Given the description of an element on the screen output the (x, y) to click on. 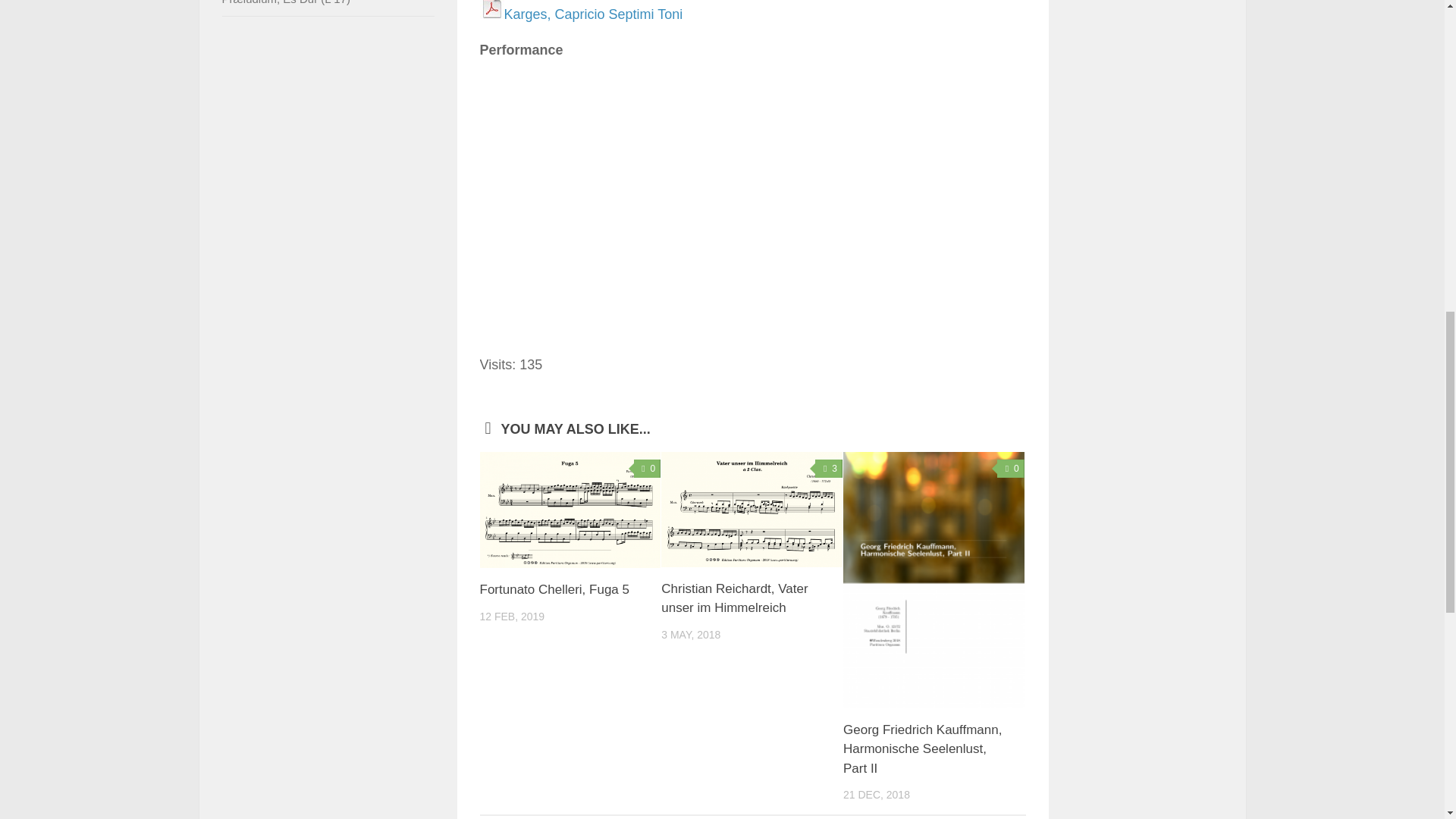
Karges, Capricio Septimi Toni (592, 14)
Christian Reichardt, Vater unser im Himmelreich (752, 509)
0 (1011, 468)
Georg Friedrich Kauffmann, Harmonische Seelenlust, Part II (922, 748)
Georg Friedrich Kauffmann, Harmonische Seelenlust, Part II (922, 748)
Christian Reichardt, Vater unser im Himmelreich (734, 598)
Christian Reichardt, Vater unser im Himmelreich (734, 598)
Fortunato Chelleri, Fuga 5 (553, 589)
0 (647, 468)
3 (829, 468)
Fortunato Chelleri, Fuga 5 (570, 510)
Fortunato Chelleri, Fuga 5 (553, 589)
